Given the description of an element on the screen output the (x, y) to click on. 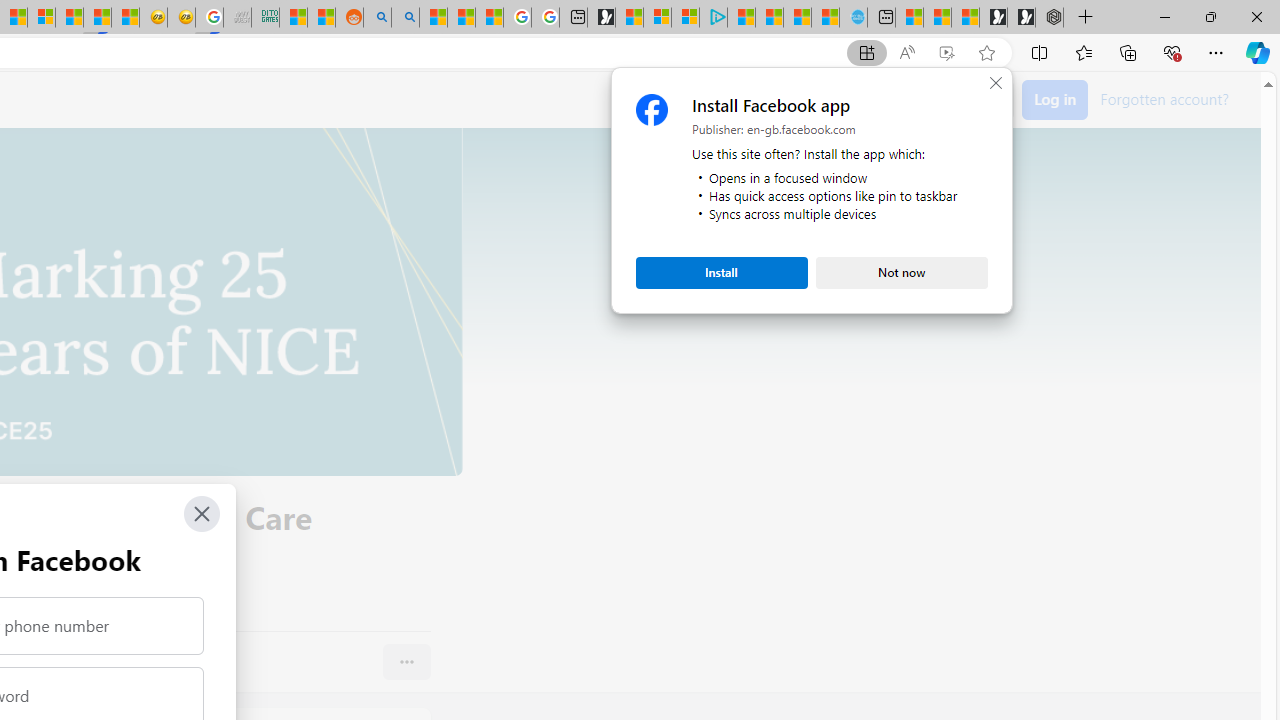
Not now (902, 272)
